Given the description of an element on the screen output the (x, y) to click on. 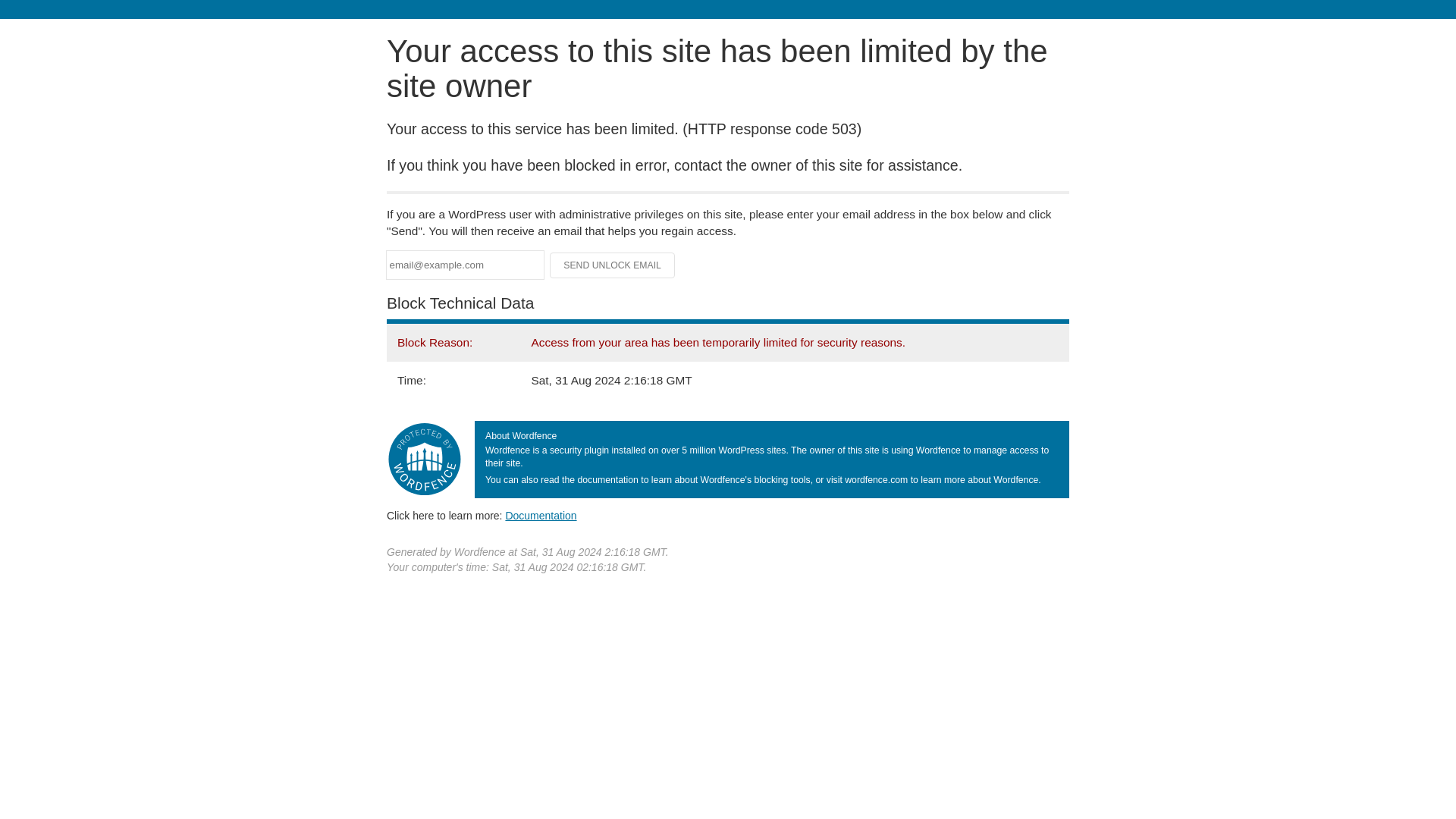
Documentation (540, 515)
Send Unlock Email (612, 265)
Send Unlock Email (612, 265)
